Given the description of an element on the screen output the (x, y) to click on. 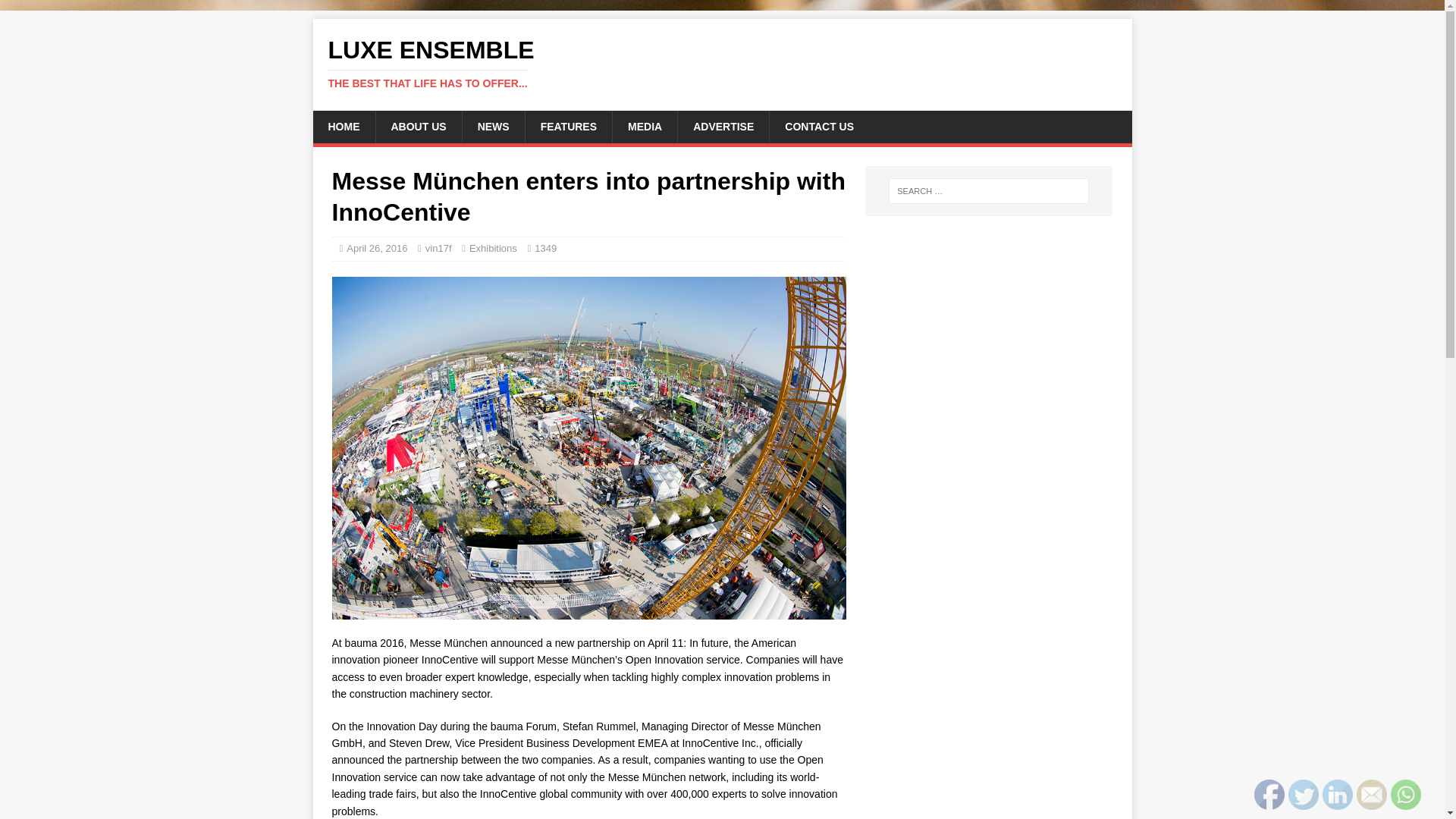
Follow by Email (1371, 794)
vin17f (438, 247)
Search (56, 11)
Twitter (1303, 794)
Luxe Ensemble (721, 63)
CONTACT US (818, 126)
Exhibitions (492, 247)
April 26, 2016 (376, 247)
NEWS (492, 126)
1349 (545, 247)
FEATURES (567, 126)
Facebook (1268, 794)
HOME (343, 126)
MEDIA (644, 126)
